Given the description of an element on the screen output the (x, y) to click on. 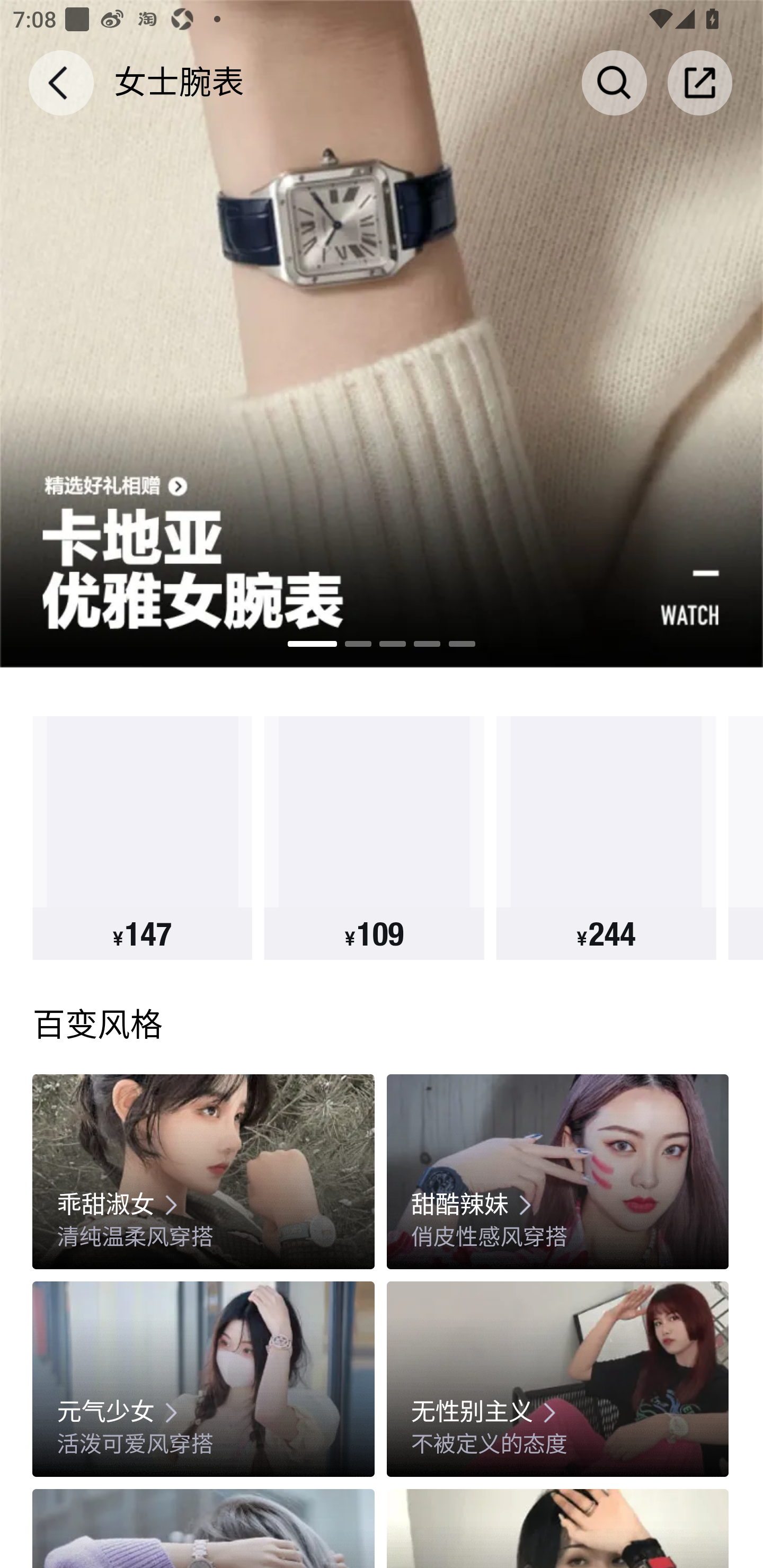
img ¥147 (142, 838)
img ¥109 (373, 838)
img ¥244 (606, 838)
乖甜淑女 resize,w_750 清纯温柔风穿搭 (203, 1171)
甜酷辣妹 resize,w_750 俏皮性感风穿搭 (557, 1171)
元气少女 resize,w_750 活泼可爱风穿搭 (203, 1379)
无性别主义 resize,w_750 不被定义的态度 (557, 1379)
